Given the description of an element on the screen output the (x, y) to click on. 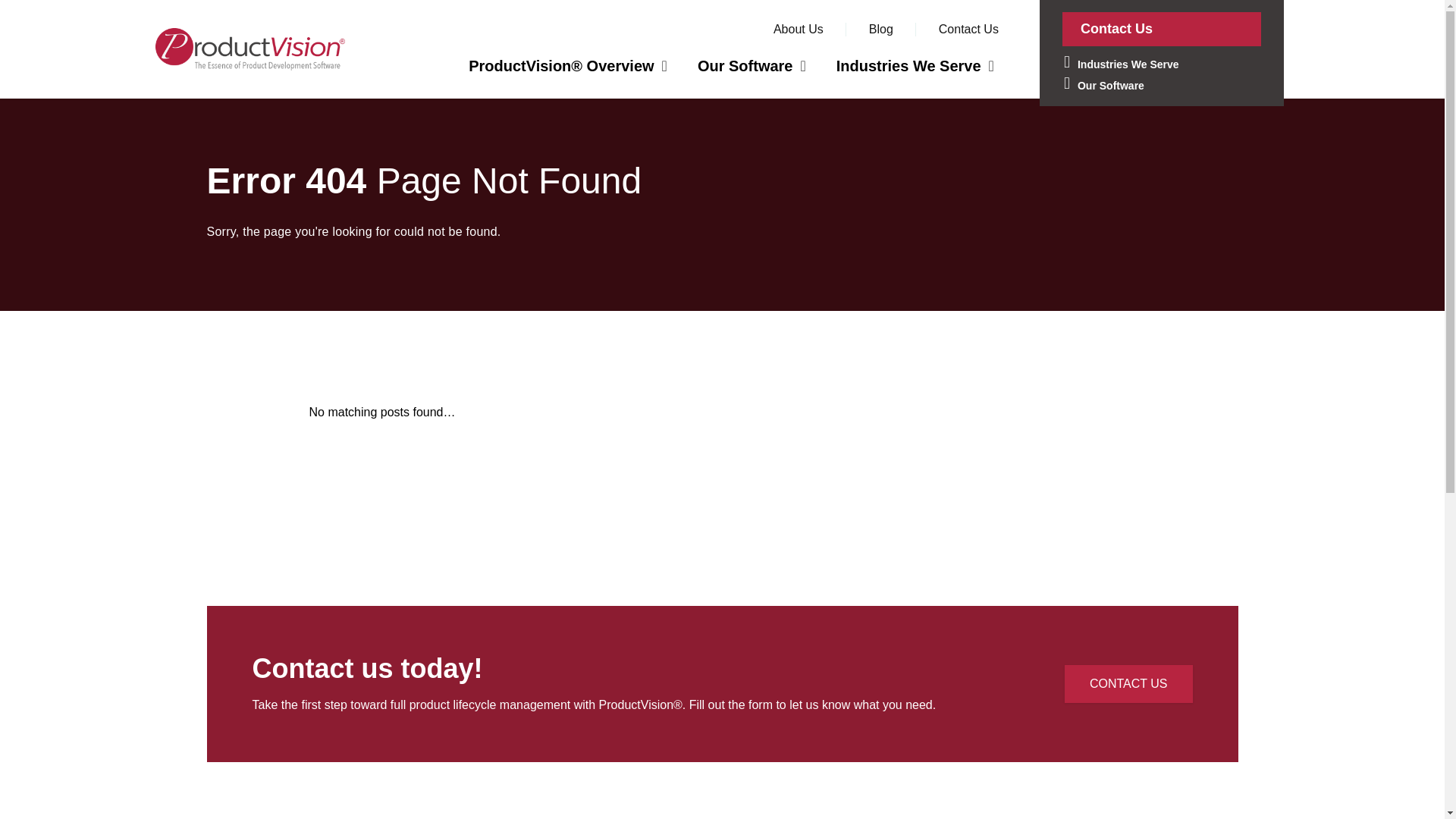
Industries We Serve (915, 65)
Contact Us (1161, 28)
About Us (798, 29)
Industries We Serve (1161, 63)
Blog (881, 29)
Our Software (1161, 84)
CONTACT US (1128, 683)
Our Software (751, 65)
Contact Us (968, 29)
